Given the description of an element on the screen output the (x, y) to click on. 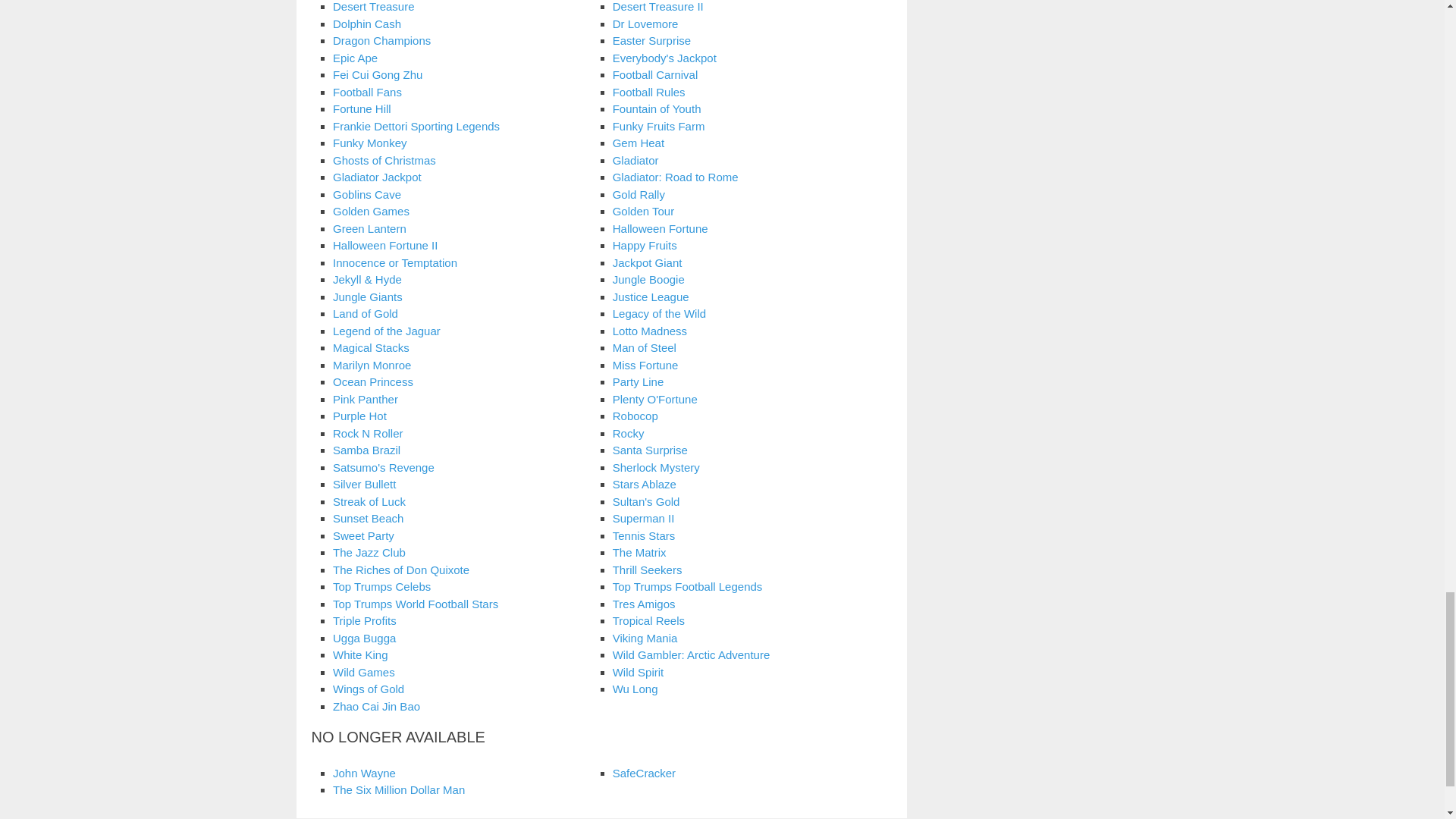
Dr Lovemore (645, 23)
Desert Treasure II (657, 6)
Dolphin Cash (367, 23)
Desert Treasure (373, 6)
Dragon Champions (381, 40)
Epic Ape (355, 57)
Everybody's Jackpot (664, 57)
Easter Surprise (651, 40)
Fei Cui Gong Zhu (377, 74)
